Given the description of an element on the screen output the (x, y) to click on. 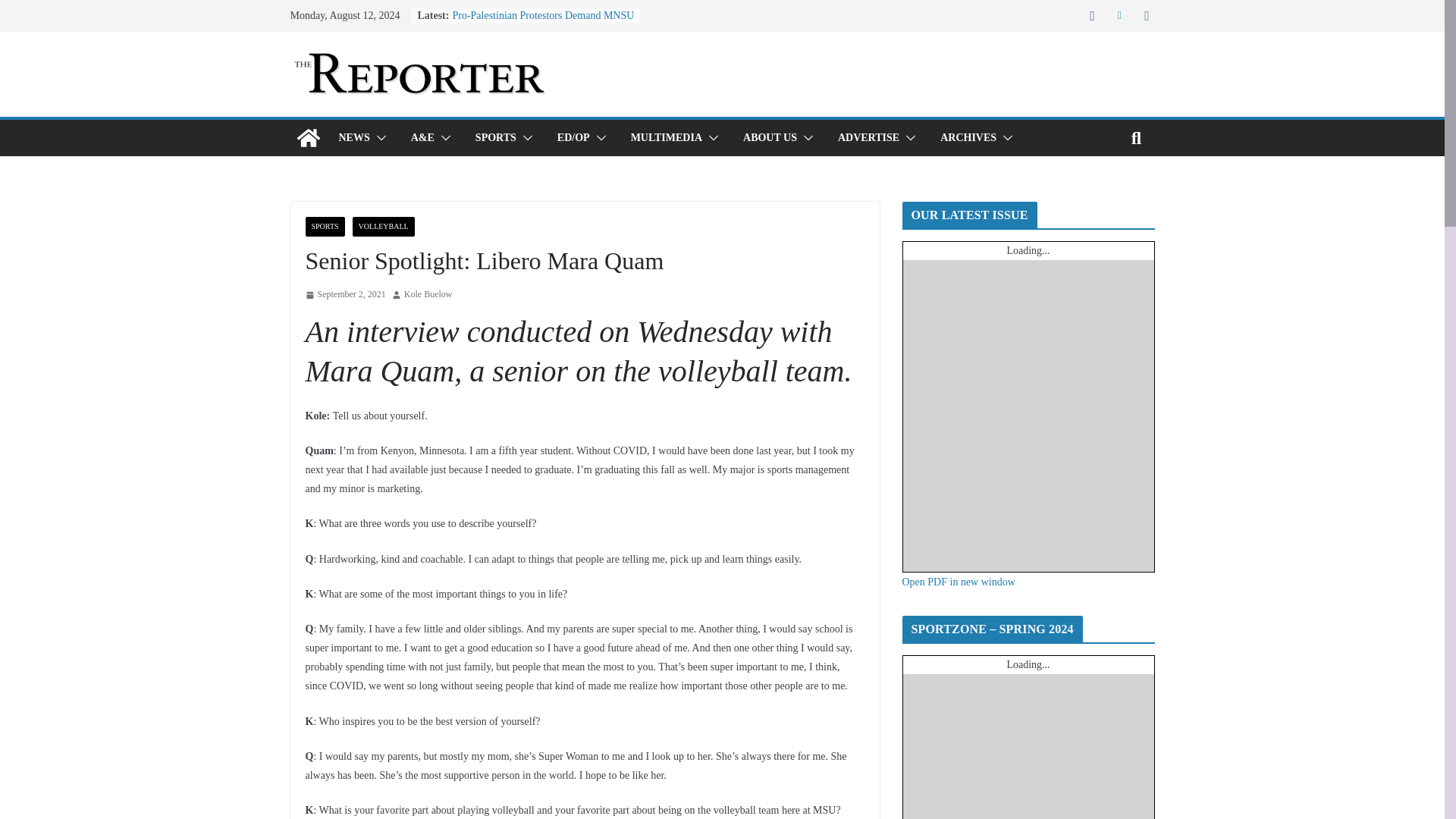
SPORTS (496, 137)
MULTIMEDIA (665, 137)
NEWS (353, 137)
1:59 pm (344, 294)
Kole Buelow (428, 294)
